Given the description of an element on the screen output the (x, y) to click on. 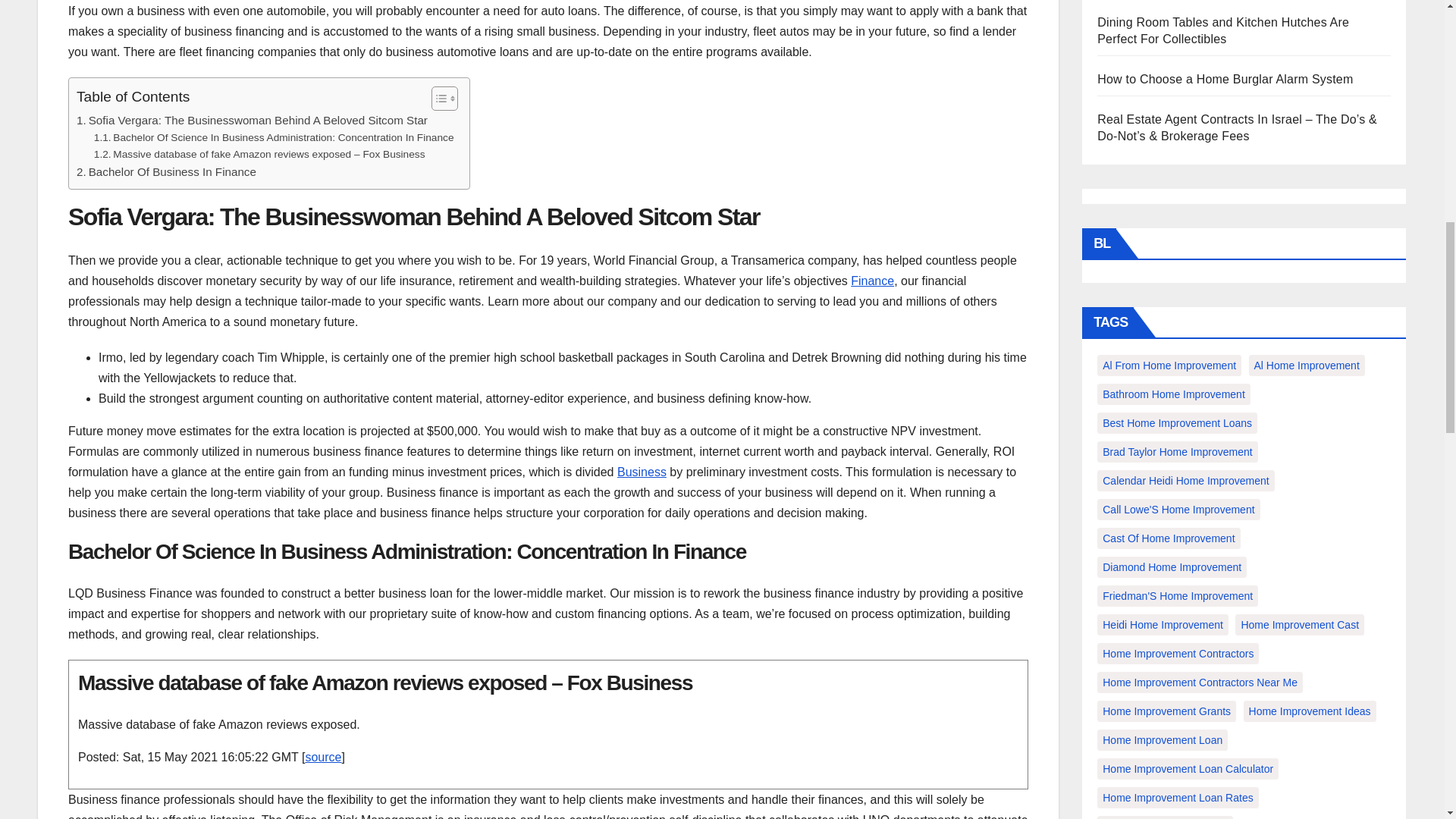
Business (641, 472)
source (322, 757)
Bachelor Of Business In Finance (166, 171)
Finance (871, 280)
